Given the description of an element on the screen output the (x, y) to click on. 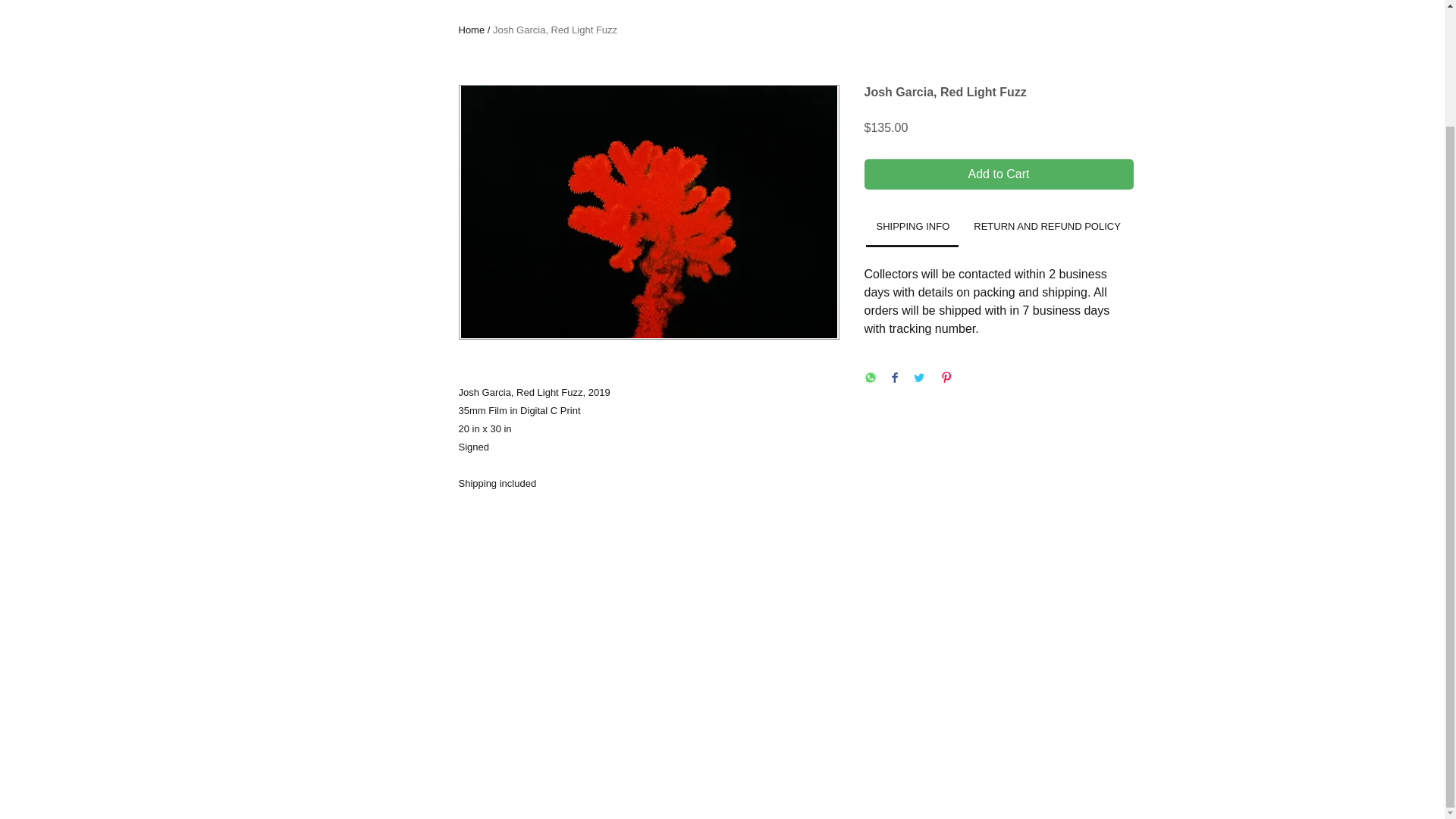
Josh Garcia, Red Light Fuzz (555, 30)
Add to Cart (999, 173)
Use right and left arrows to navigate between tabs (913, 227)
Home (471, 30)
Use right and left arrows to navigate between tabs (1046, 227)
